Given the description of an element on the screen output the (x, y) to click on. 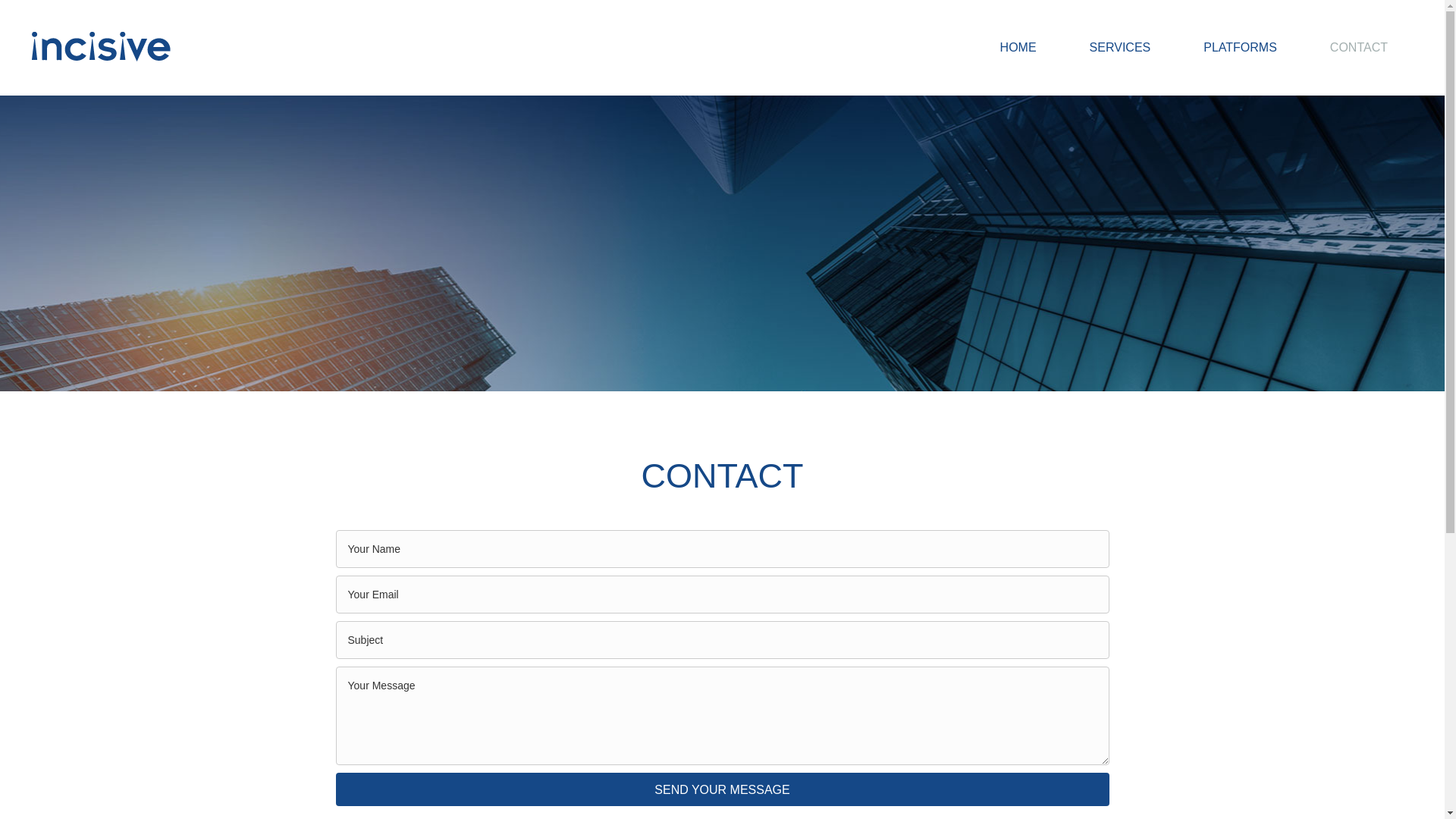
Logo2 (100, 45)
SERVICES (1120, 47)
HOME (1017, 47)
PLATFORMS (1240, 47)
SEND YOUR MESSAGE (721, 789)
CONTACT (1358, 47)
